Given the description of an element on the screen output the (x, y) to click on. 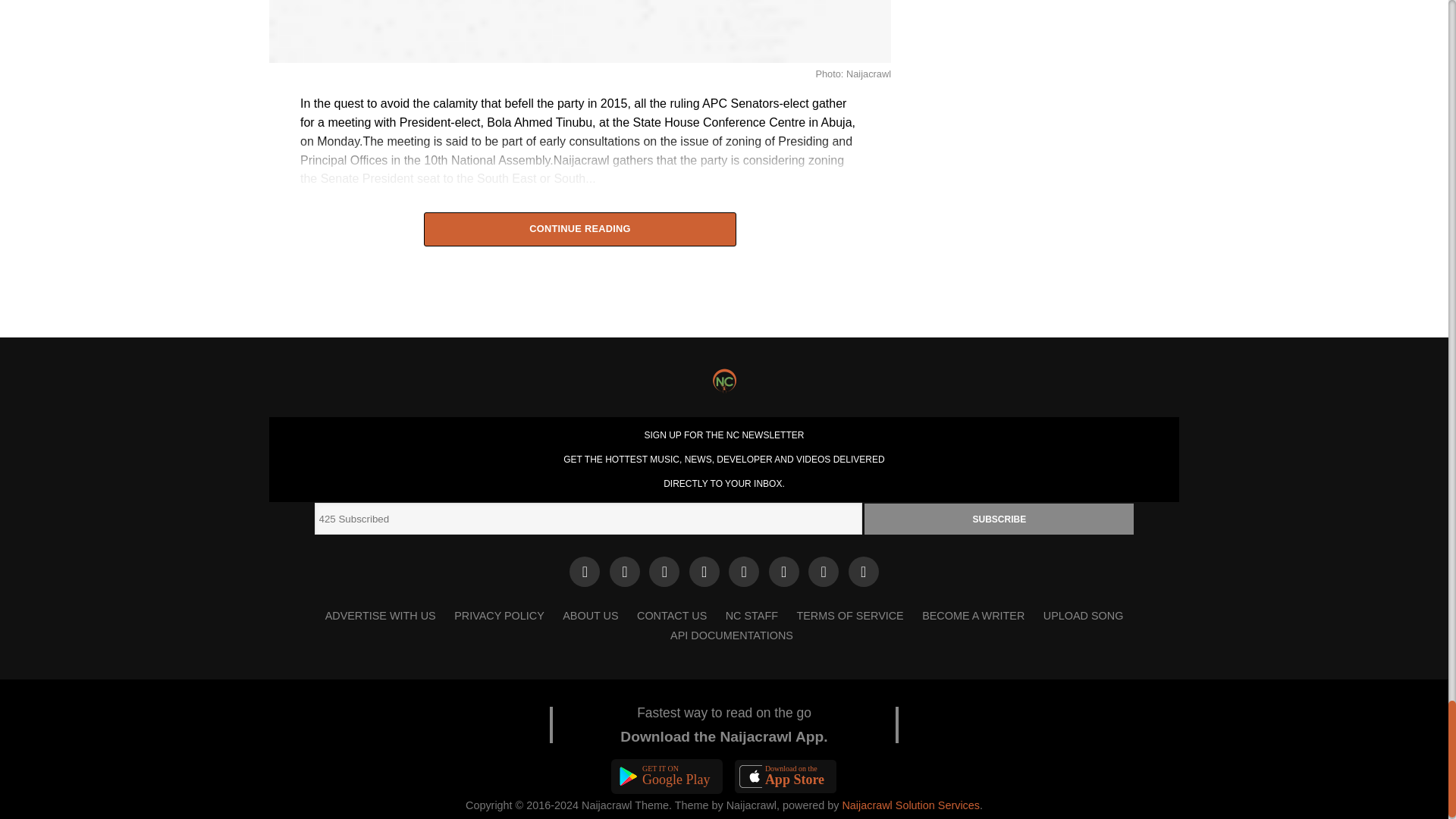
Google Play (667, 776)
App Store (785, 776)
Subscribe (999, 518)
